Given the description of an element on the screen output the (x, y) to click on. 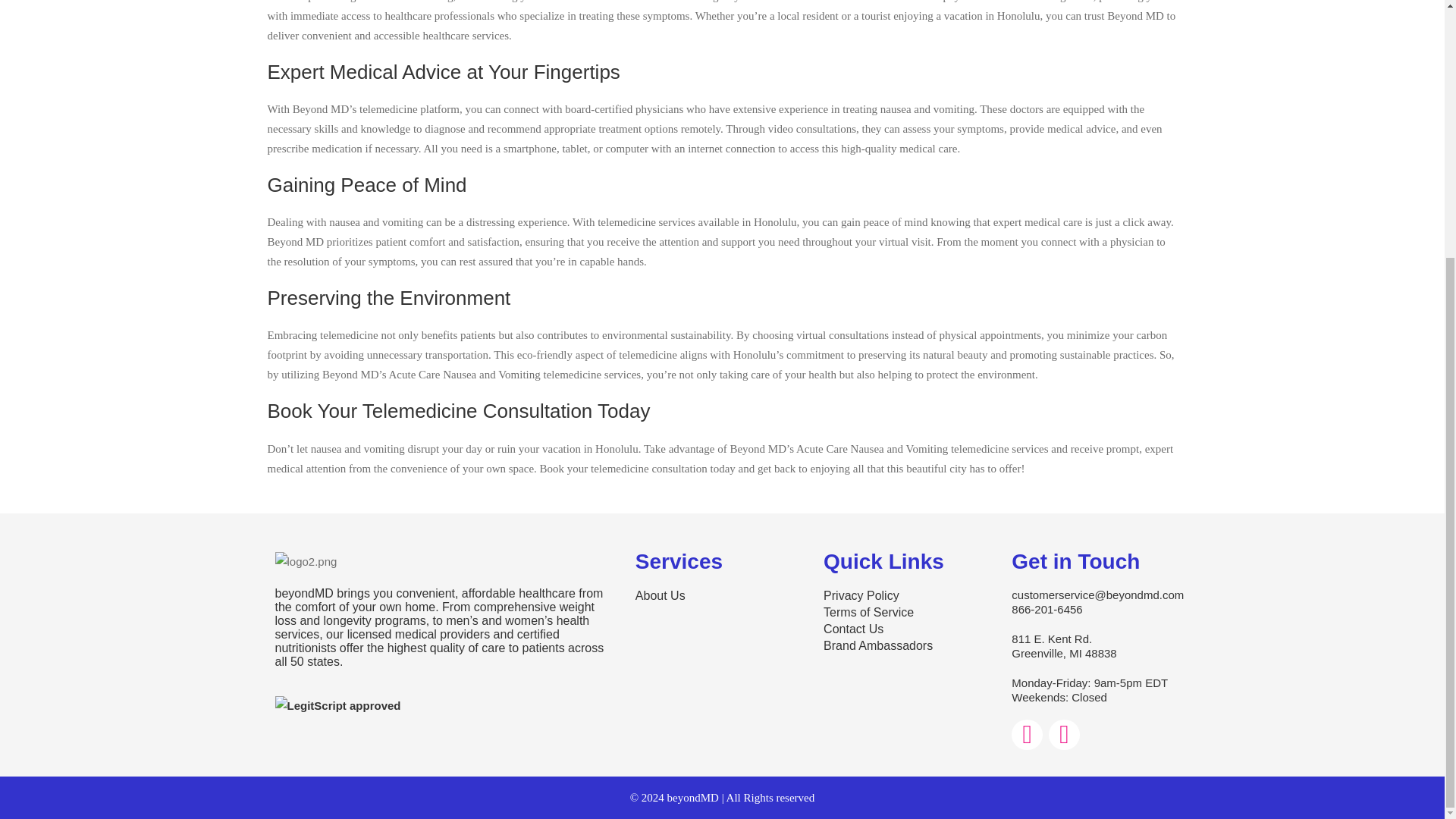
Terms of Service (902, 612)
Privacy Policy (902, 596)
Weekends: Closed (1090, 697)
Verify LegitScript Approval (337, 704)
About Us (713, 596)
811 E. Kent Rd. (1090, 638)
Contact Us (902, 629)
866-201-6456 (1090, 608)
Greenville, MI 48838 (1090, 653)
Monday-Friday: 9am-5pm EDT (1090, 682)
